Given the description of an element on the screen output the (x, y) to click on. 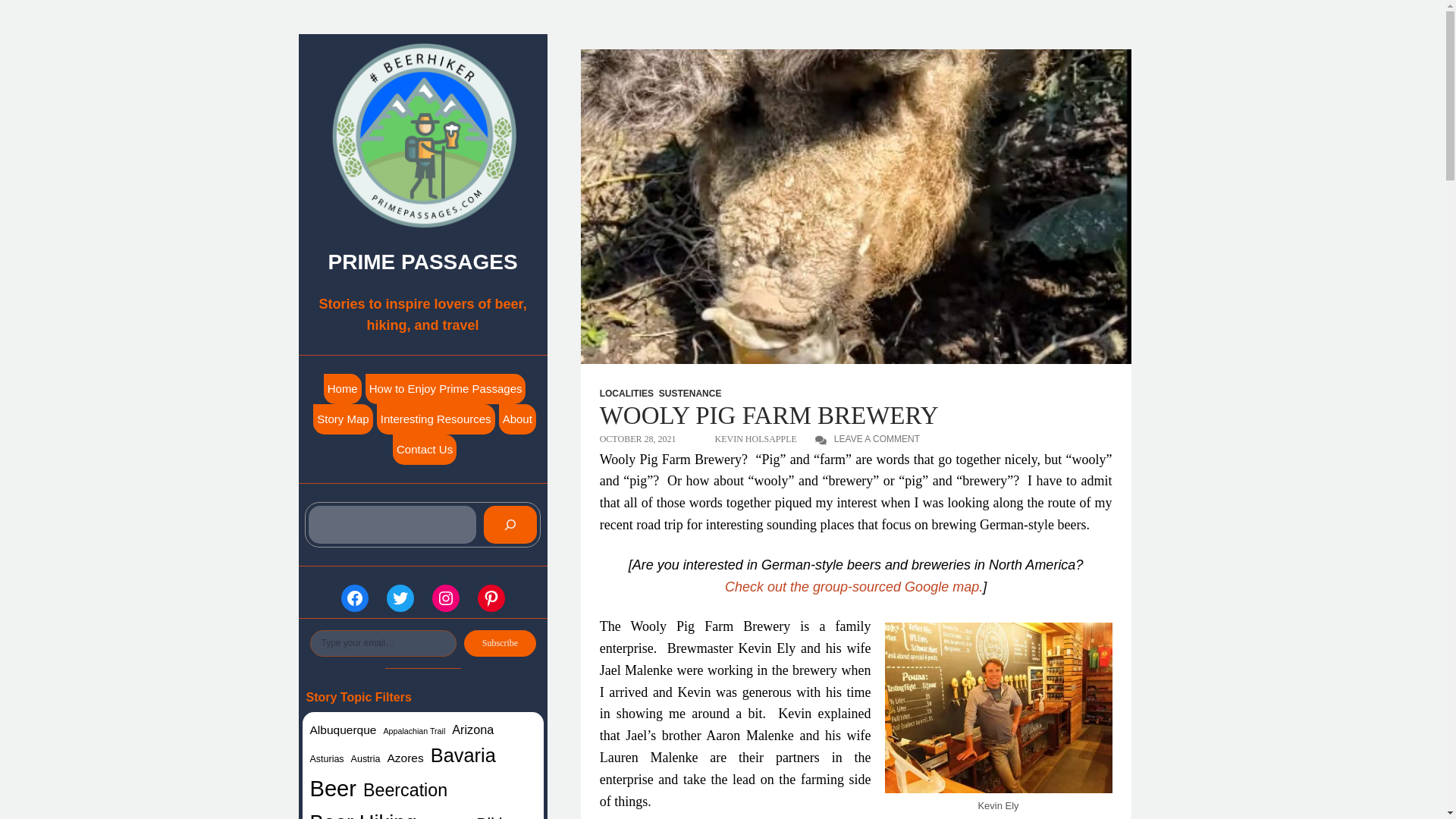
Biking (497, 815)
Facebook (354, 597)
Asturias (325, 758)
Subscribe (499, 643)
Twitter (400, 597)
Beer (332, 788)
How to Enjoy Prime Passages (445, 388)
Azores (405, 758)
Pinterest (491, 597)
About (517, 418)
